Given the description of an element on the screen output the (x, y) to click on. 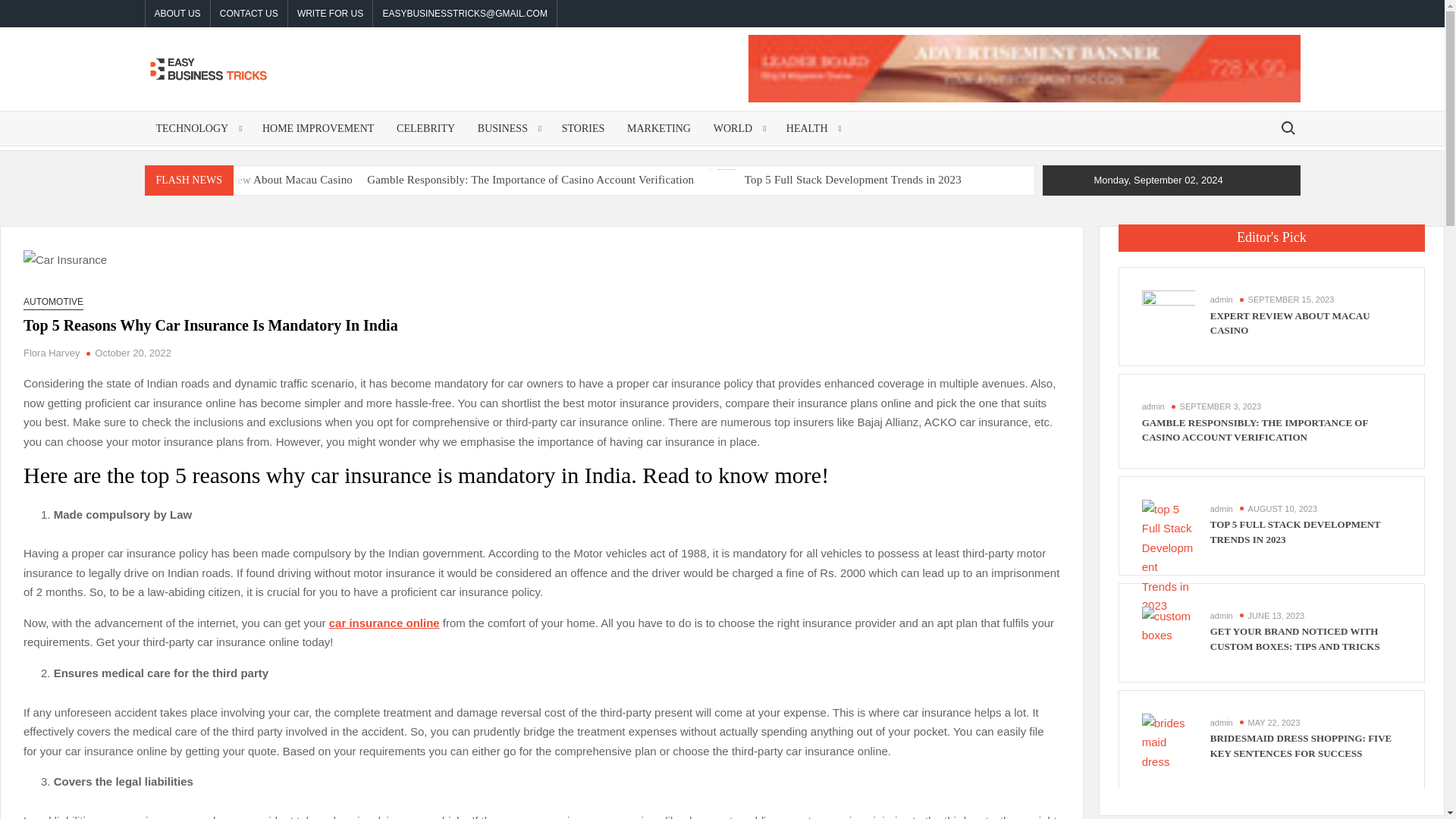
Expert Review About Macau Casino (161, 178)
CELEBRITY (425, 128)
Expert Review About Macau Casino (266, 179)
TECHNOLOGY (197, 128)
Top 5 Full Stack Development Trends in 2023 (724, 178)
HOME IMPROVEMENT (317, 128)
WRITE FOR US (330, 13)
CONTACT US (248, 13)
